Given the description of an element on the screen output the (x, y) to click on. 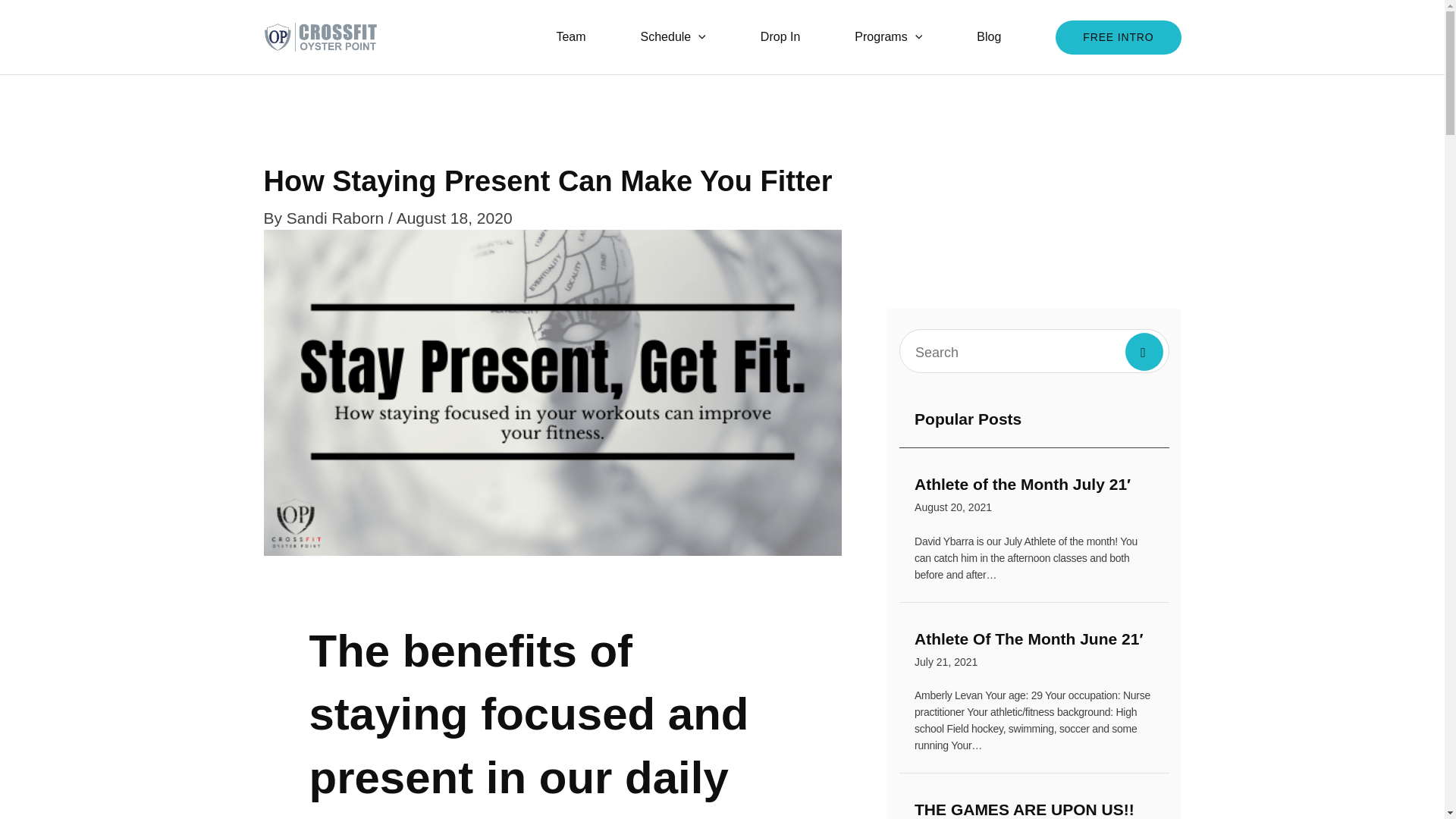
Drop In (780, 36)
Blog (988, 36)
Programs (888, 36)
FREE INTRO (1117, 36)
Schedule (672, 36)
Sandi Raborn (337, 217)
Team (1034, 809)
View all posts by Sandi Raborn (570, 36)
